Given the description of an element on the screen output the (x, y) to click on. 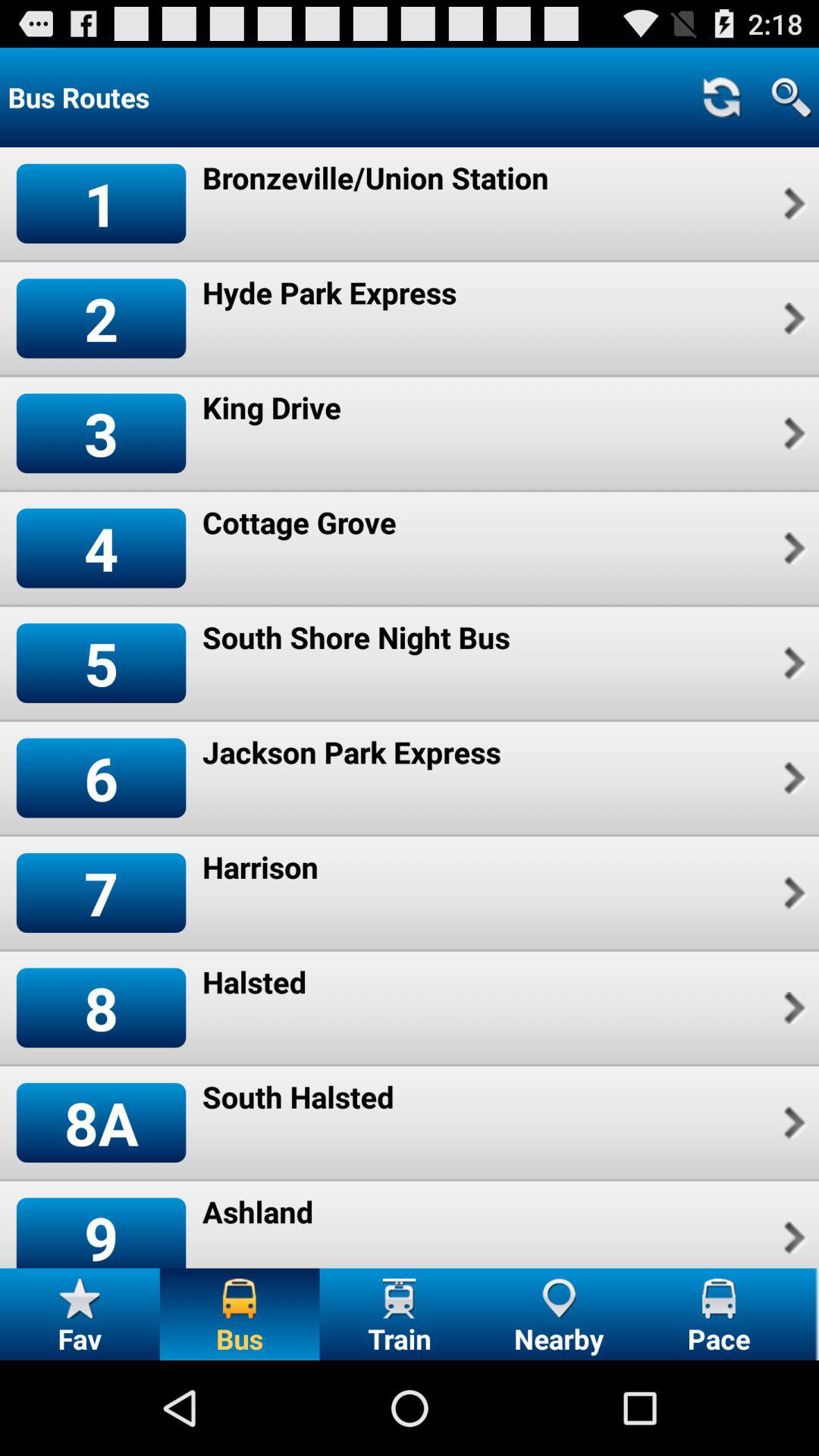
click icon to the left of the halsted (100, 1007)
